Given the description of an element on the screen output the (x, y) to click on. 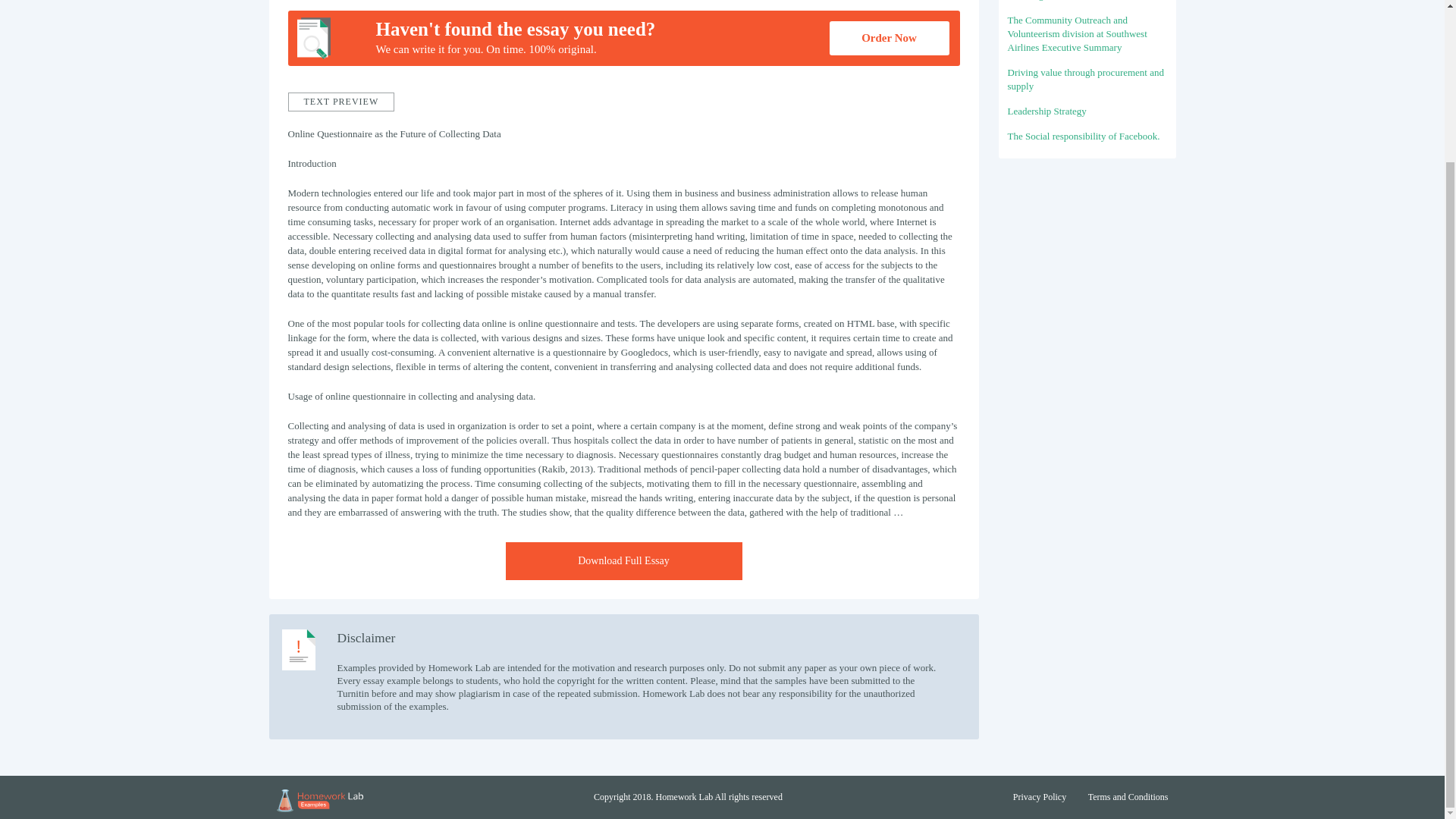
Download Full Essay (623, 560)
The Social responsibility of Facebook. (1082, 135)
Order Now (889, 38)
Terms and Conditions (1128, 796)
Privacy Policy (1039, 796)
Driving value through procurement and supply (1085, 78)
Leadership Strategy (1046, 111)
